Given the description of an element on the screen output the (x, y) to click on. 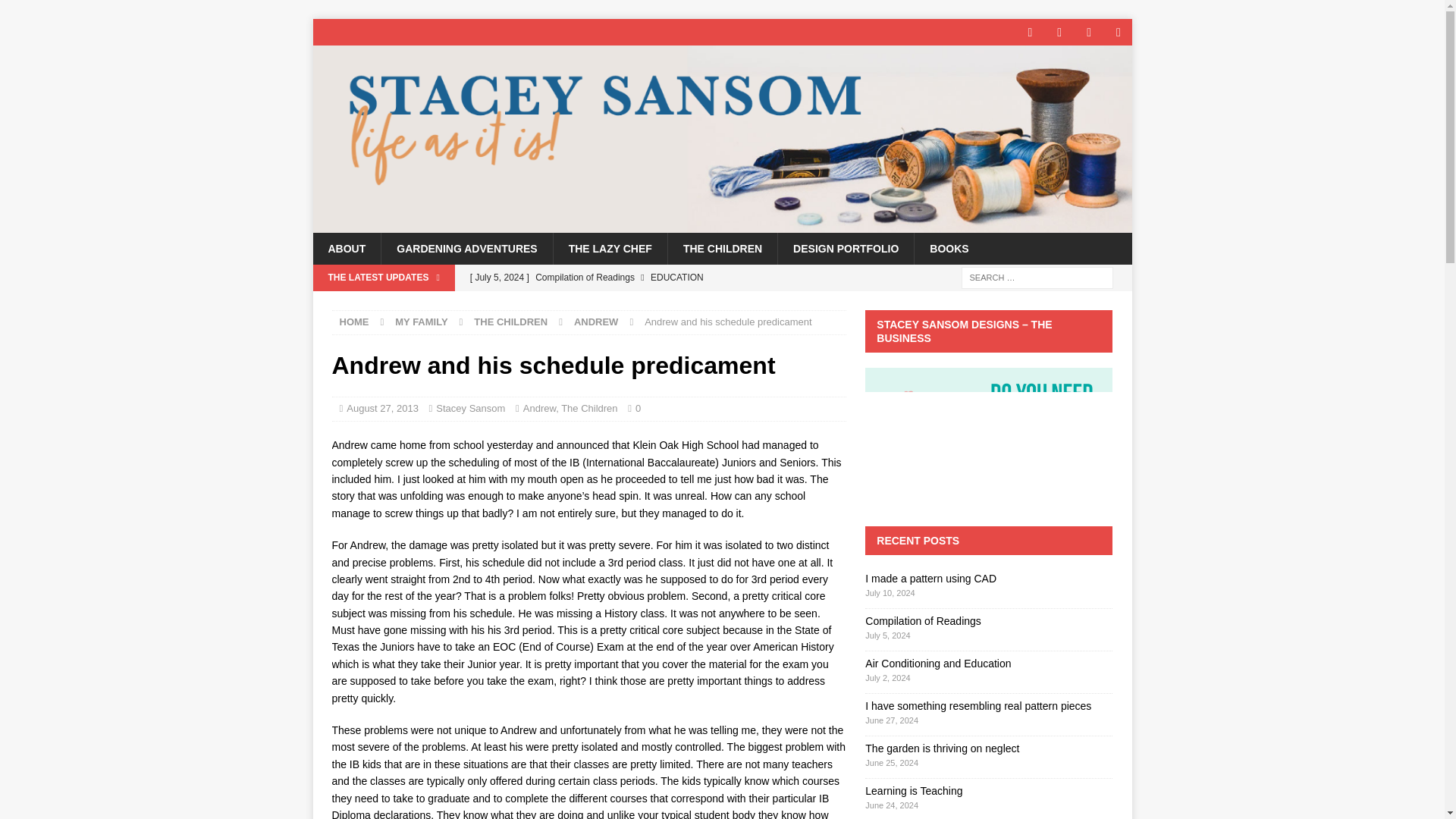
THE CHILDREN (721, 248)
ANDREW (595, 321)
DESIGN PORTFOLIO (845, 248)
Air Conditioning and Education (653, 303)
Andrew (539, 408)
Stacey Sansom (722, 223)
GARDENING ADVENTURES (465, 248)
ABOUT (346, 248)
MY FAMILY (420, 321)
HOME (354, 321)
